Given the description of an element on the screen output the (x, y) to click on. 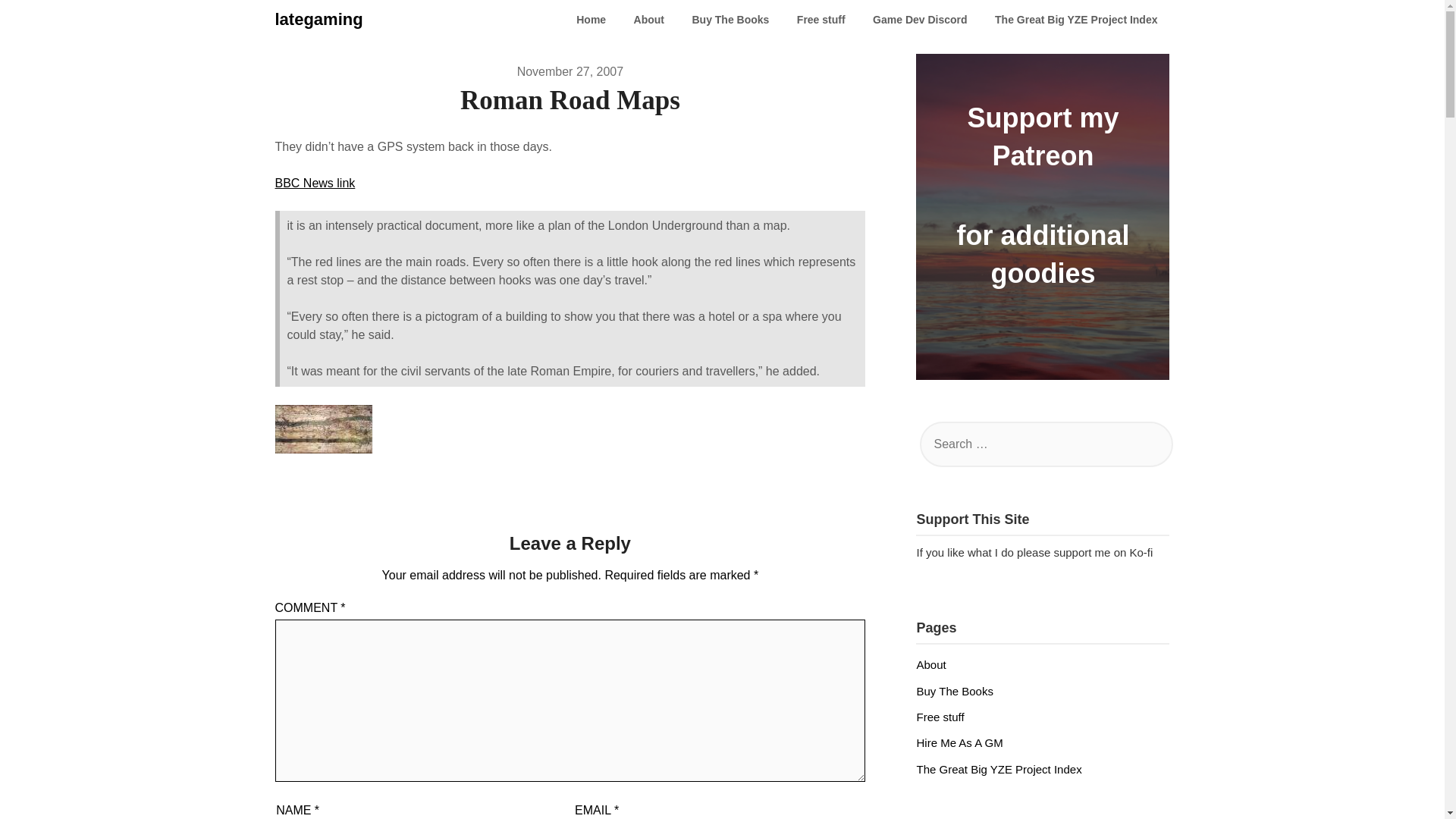
Home (590, 20)
November 27, 2007 (570, 71)
Hire Me As A GM (959, 742)
The Great Big YZE Project Index (1075, 20)
Free stuff (939, 716)
About (929, 664)
lategaming (318, 19)
Buy The Books (729, 20)
Buy The Books (953, 689)
The Great Big YZE Project Index (998, 768)
Game Dev Discord (919, 20)
About (649, 20)
Roman Roads (323, 449)
Free stuff (820, 20)
Search (38, 22)
